Given the description of an element on the screen output the (x, y) to click on. 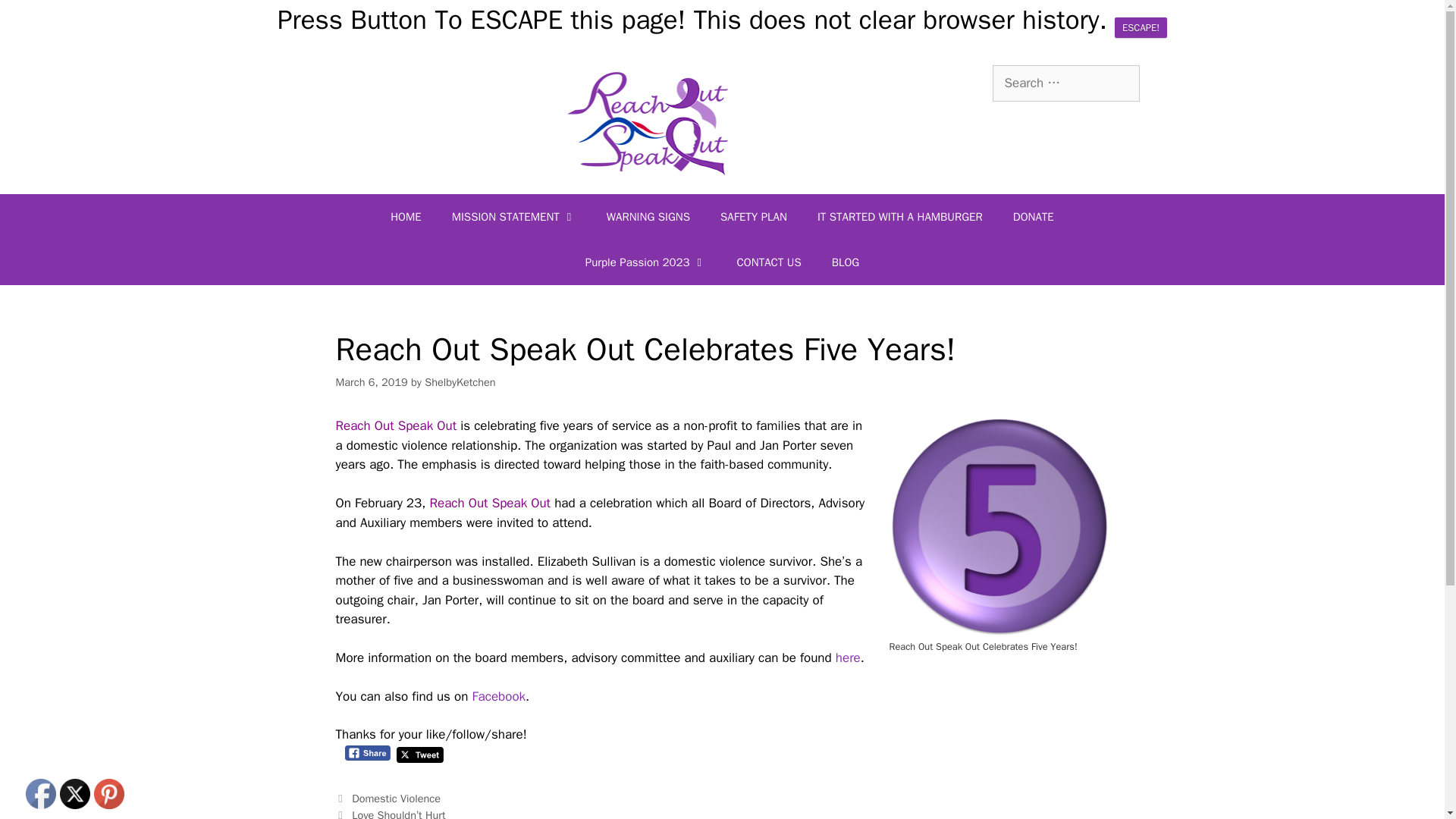
ESCAPE! (1141, 26)
Purple Passion 2023 (646, 262)
Pinterest (108, 793)
Tweet (420, 754)
Facebook (41, 793)
WARNING SIGNS (647, 216)
Facebook Share (366, 753)
Domestic Violence (396, 798)
HOME (405, 216)
SAFETY PLAN (753, 216)
Facebook (498, 696)
View all posts by ShelbyKetchen (460, 382)
MISSION STATEMENT (513, 216)
BLOG (845, 262)
Search (35, 18)
